Given the description of an element on the screen output the (x, y) to click on. 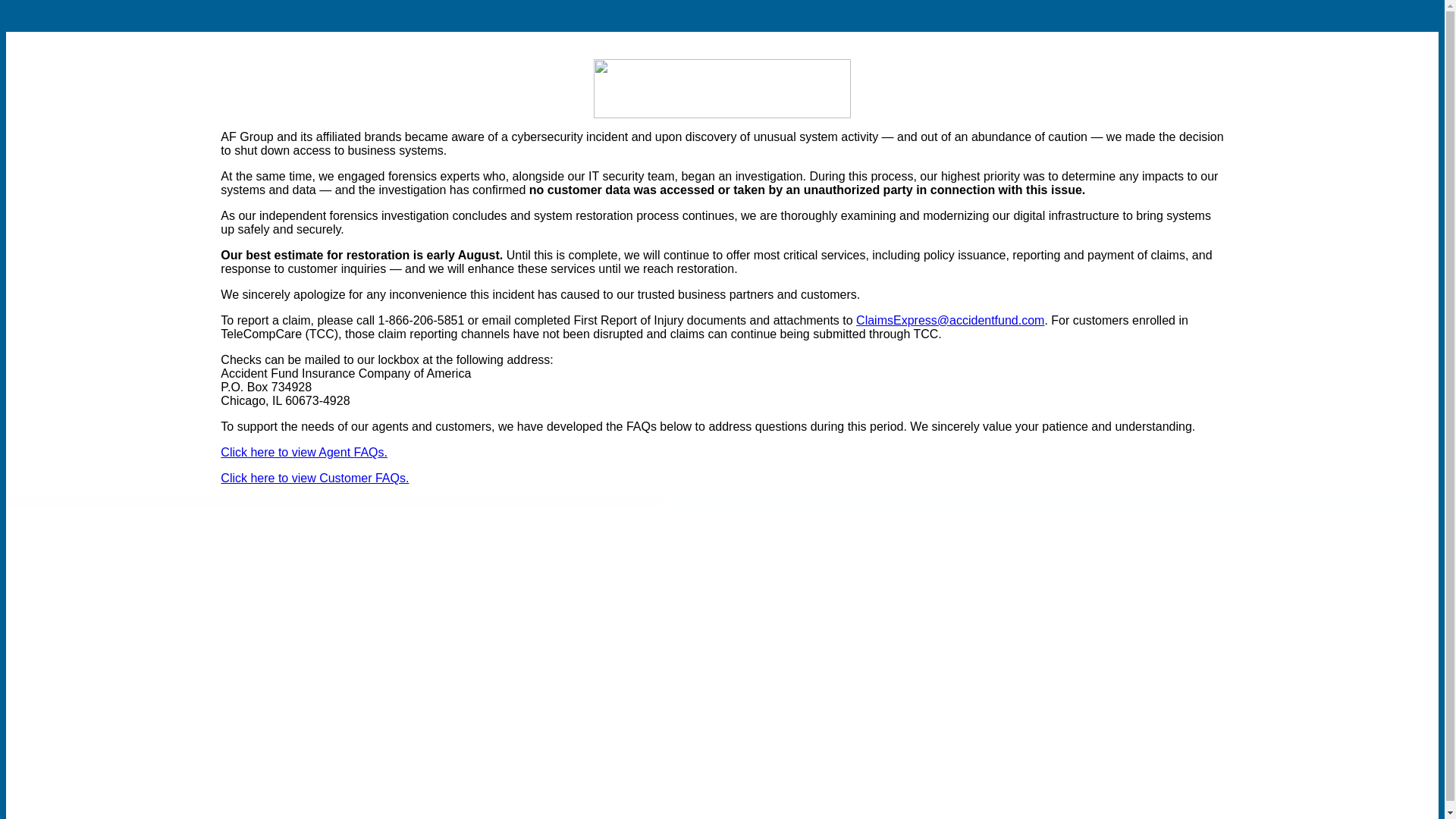
Click here to view Customer FAQs. (315, 477)
Click here to view Agent FAQs. (304, 451)
